Given the description of an element on the screen output the (x, y) to click on. 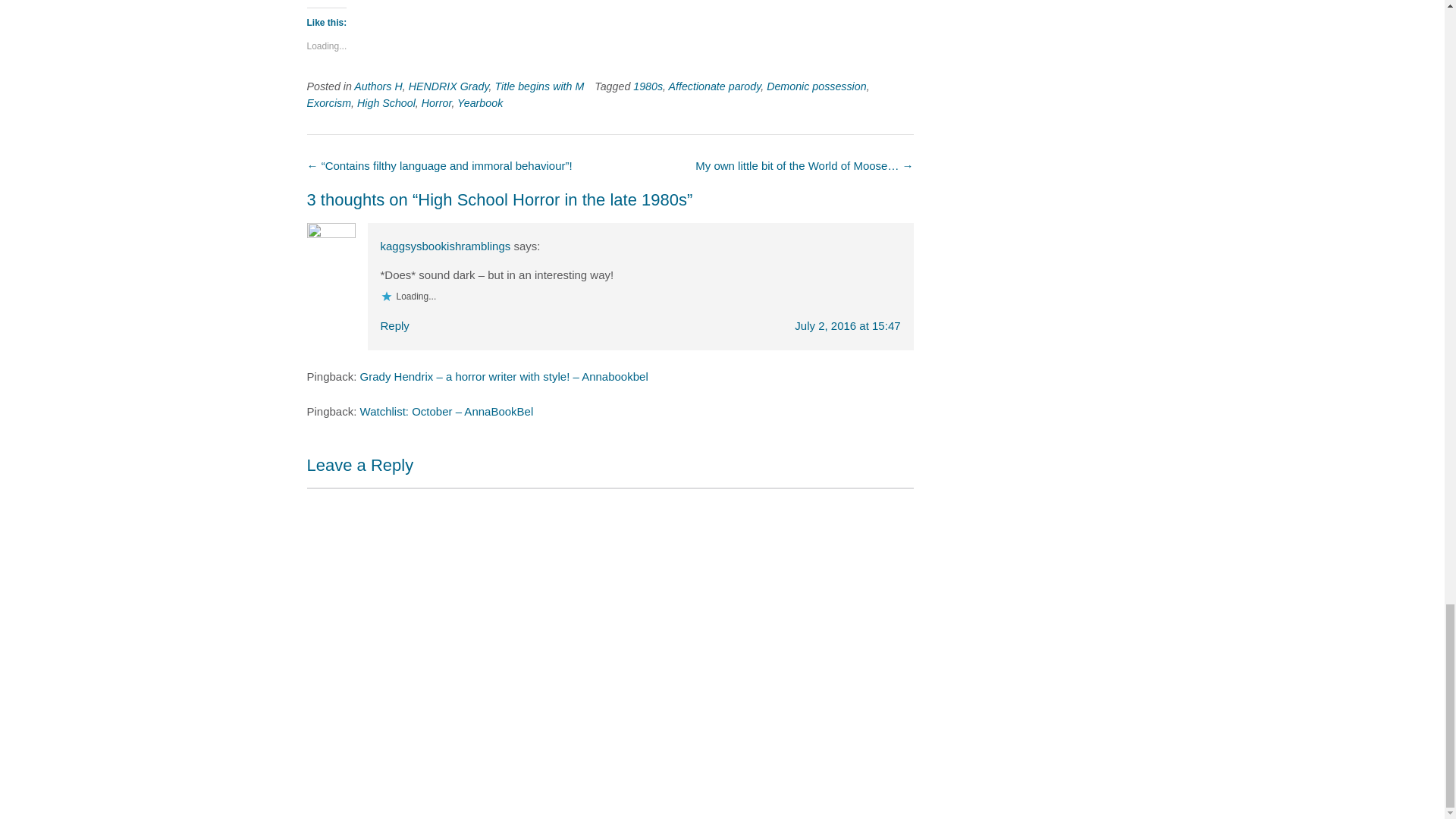
Affectionate parody (714, 86)
1980s (647, 86)
High School (385, 102)
Authors H (377, 86)
Horror (436, 102)
Title begins with M (539, 86)
Yearbook (479, 102)
Demonic possession (816, 86)
Exorcism (327, 102)
